Given the description of an element on the screen output the (x, y) to click on. 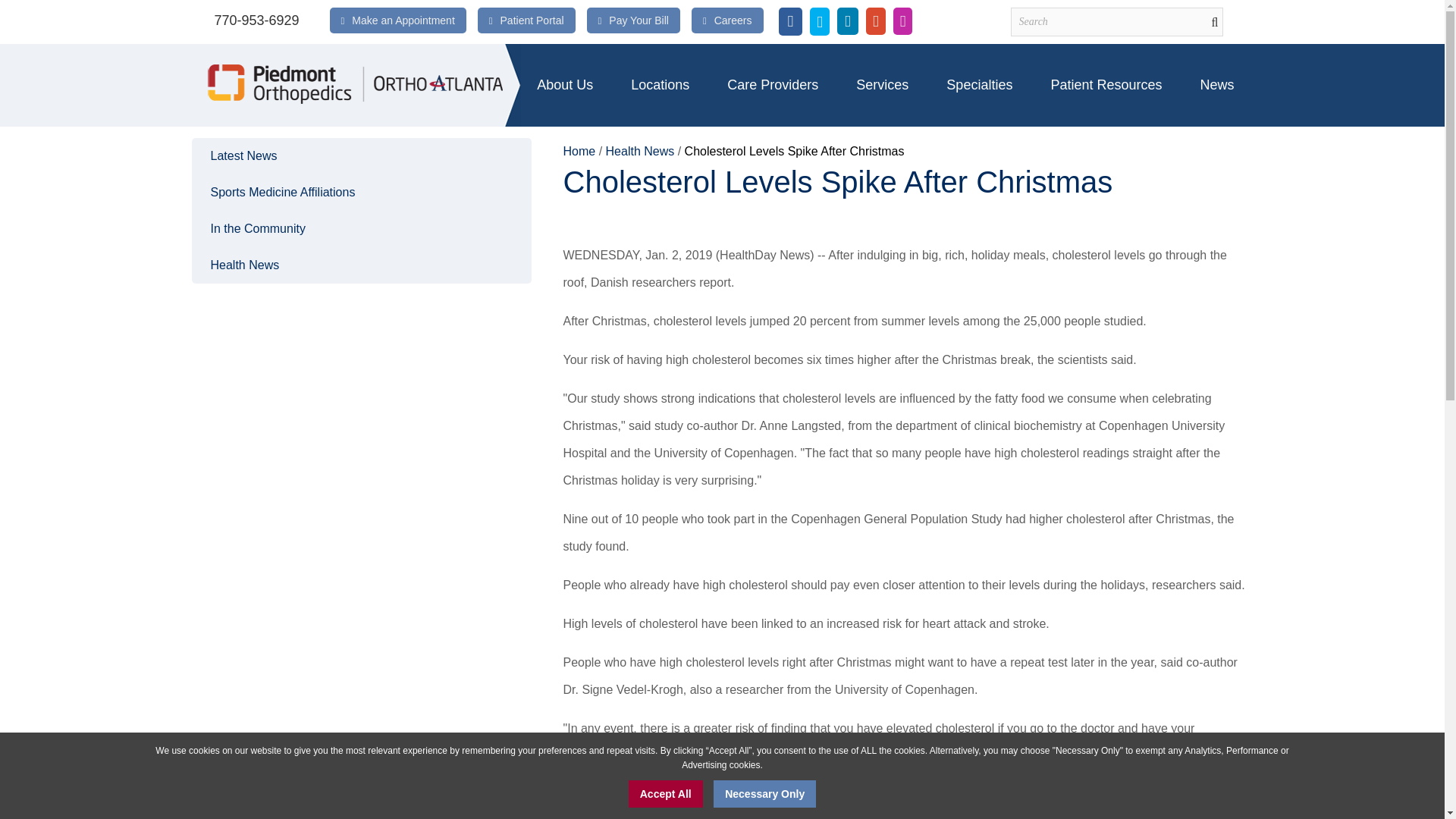
Make an Appointment (403, 19)
About Us (564, 85)
Pay Your Bill (638, 19)
Locations (659, 85)
Careers (733, 19)
770-953-6929 (256, 20)
Search (1116, 21)
Patient Portal (532, 19)
Search (1116, 21)
